Given the description of an element on the screen output the (x, y) to click on. 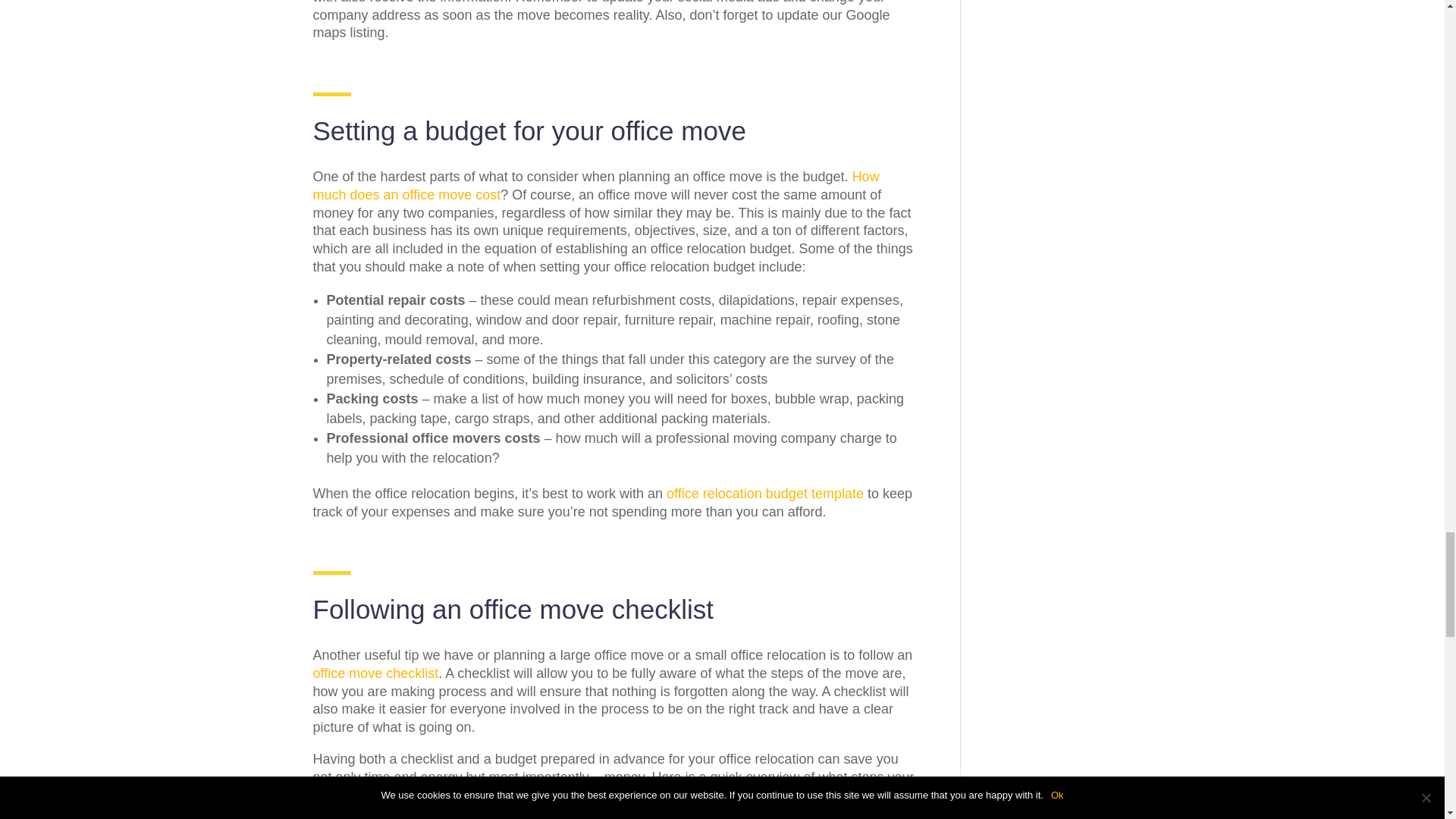
How much does an office move cost (596, 185)
office move checklist (375, 672)
office relocation budget template (764, 493)
